Given the description of an element on the screen output the (x, y) to click on. 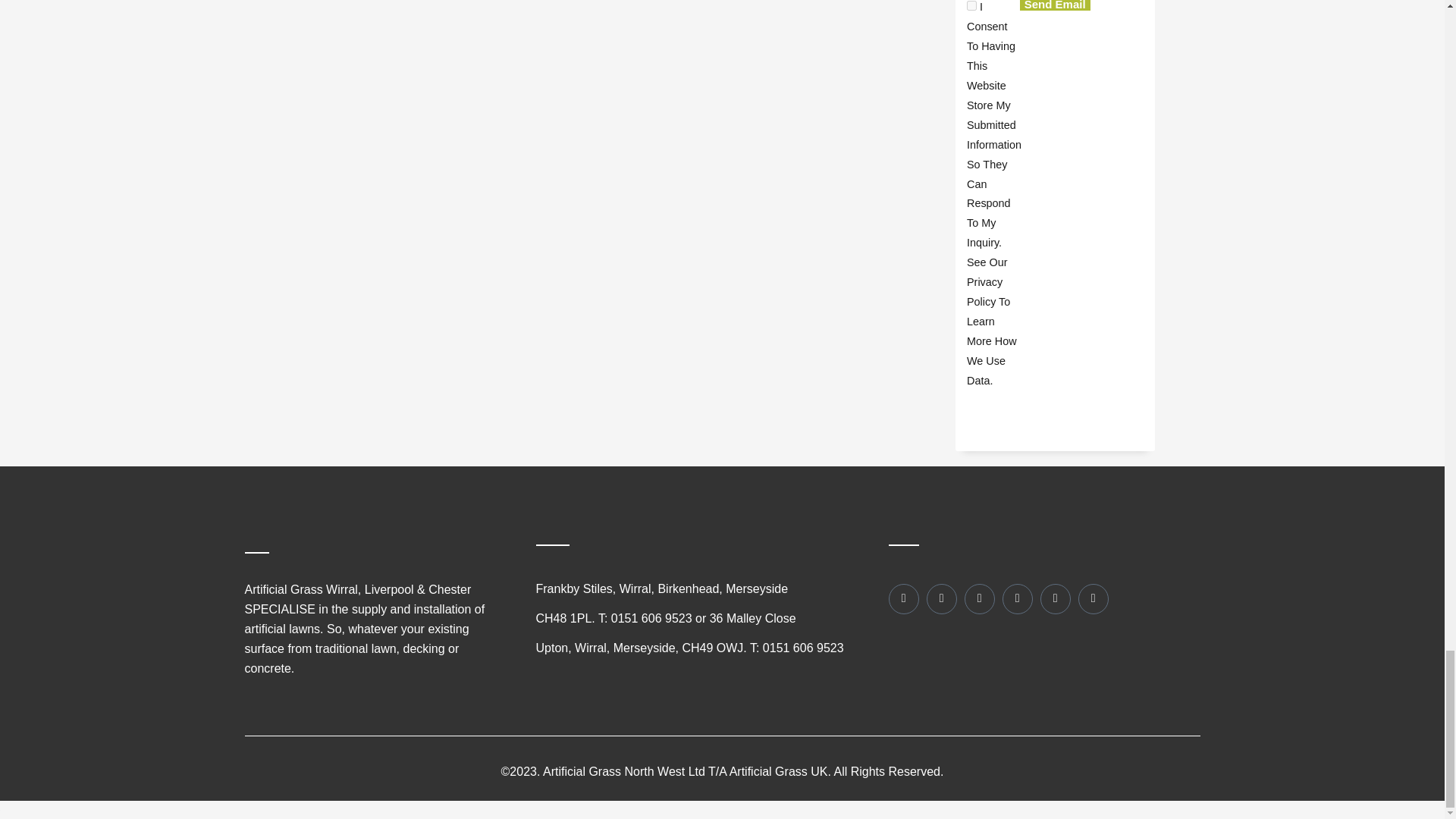
on (971, 5)
Send email (1055, 5)
